Given the description of an element on the screen output the (x, y) to click on. 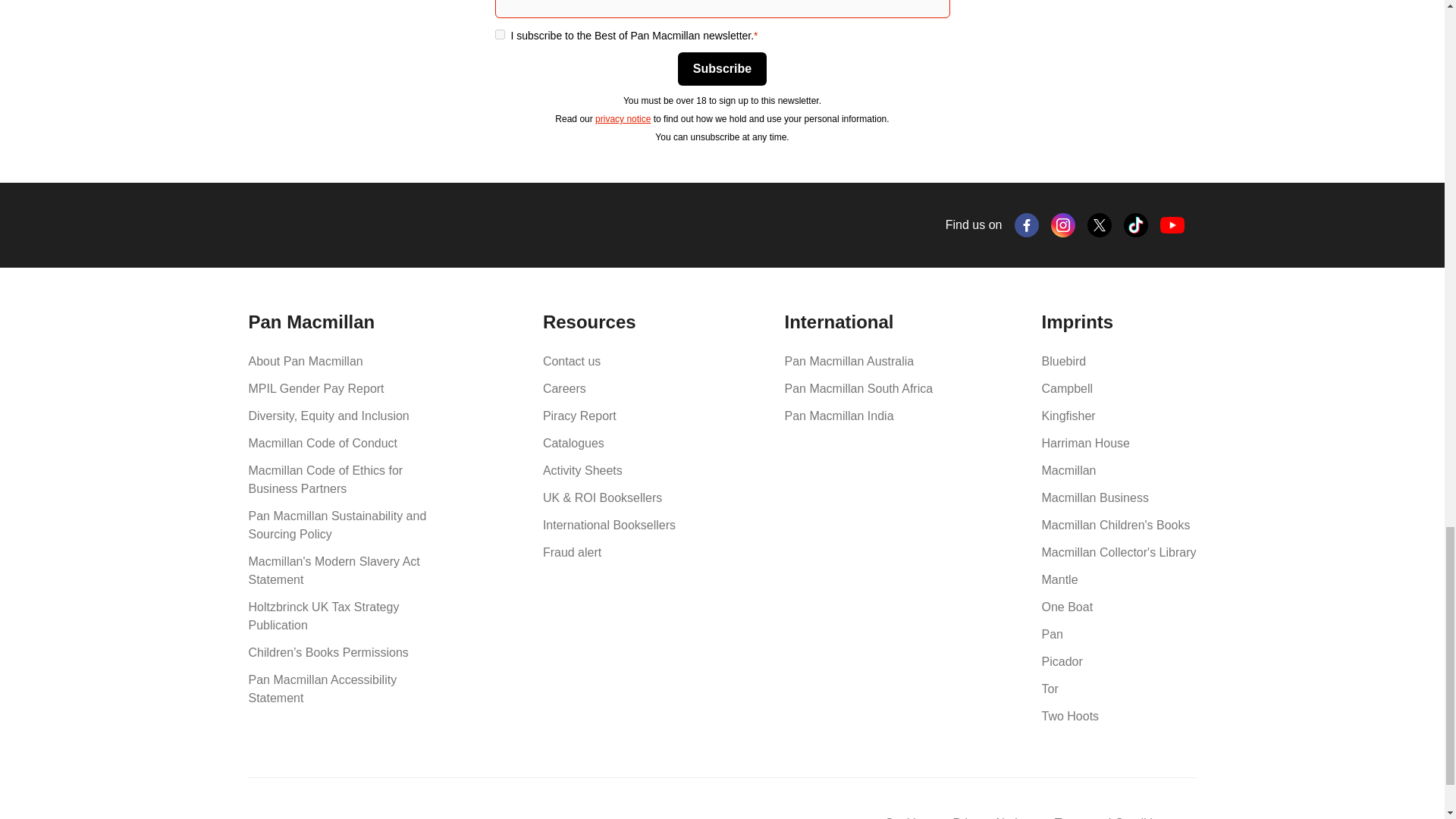
Pan Macmillan Privacy Notice (622, 118)
Subscribe (722, 68)
Facebook (1026, 224)
on (499, 34)
